Given the description of an element on the screen output the (x, y) to click on. 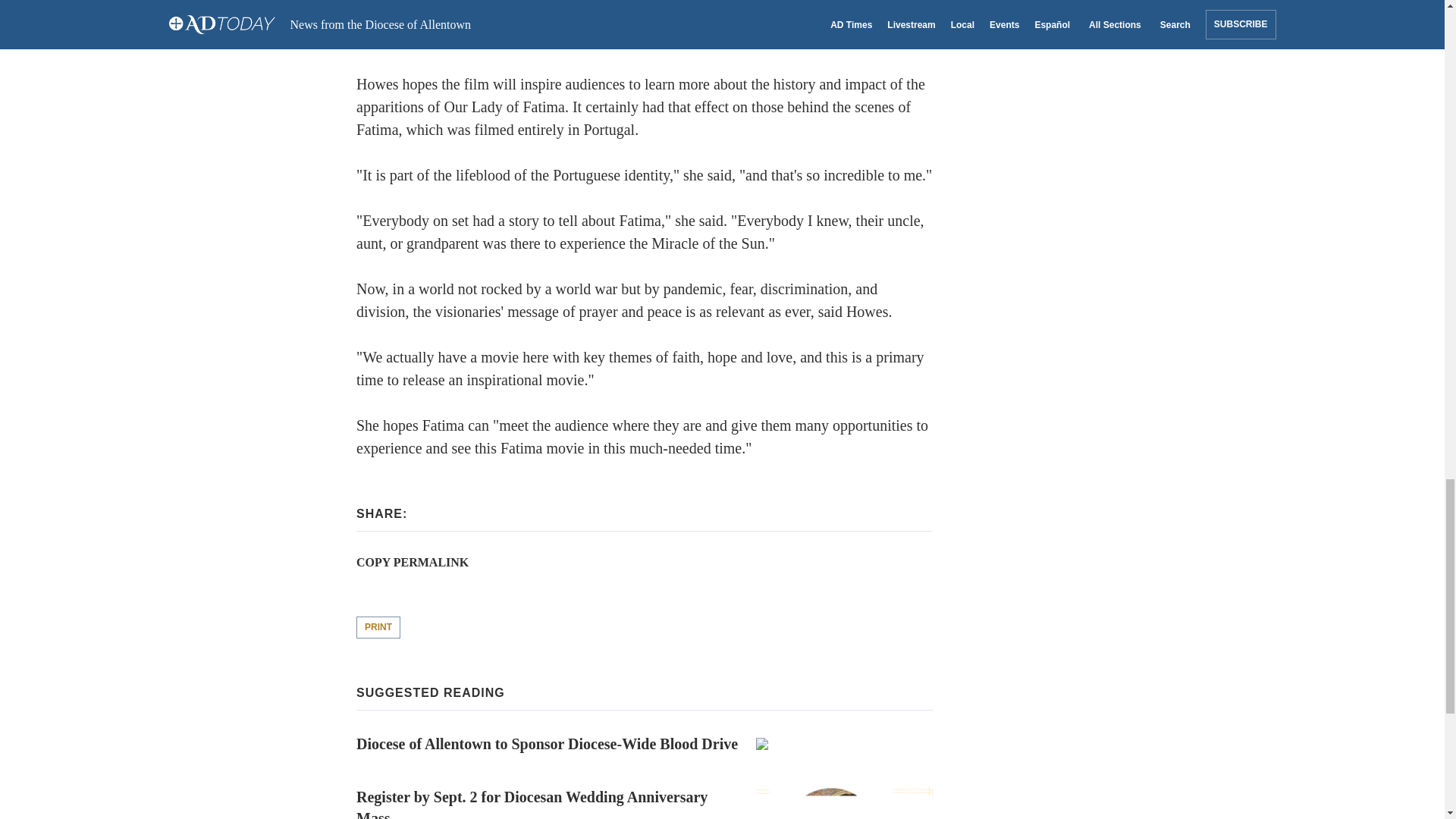
Register by Sept. 2 for Diocesan Wedding Anniversary Mass (644, 802)
PRINT (378, 627)
Diocese of Allentown to Sponsor Diocese-Wide Blood Drive (644, 744)
